Given the description of an element on the screen output the (x, y) to click on. 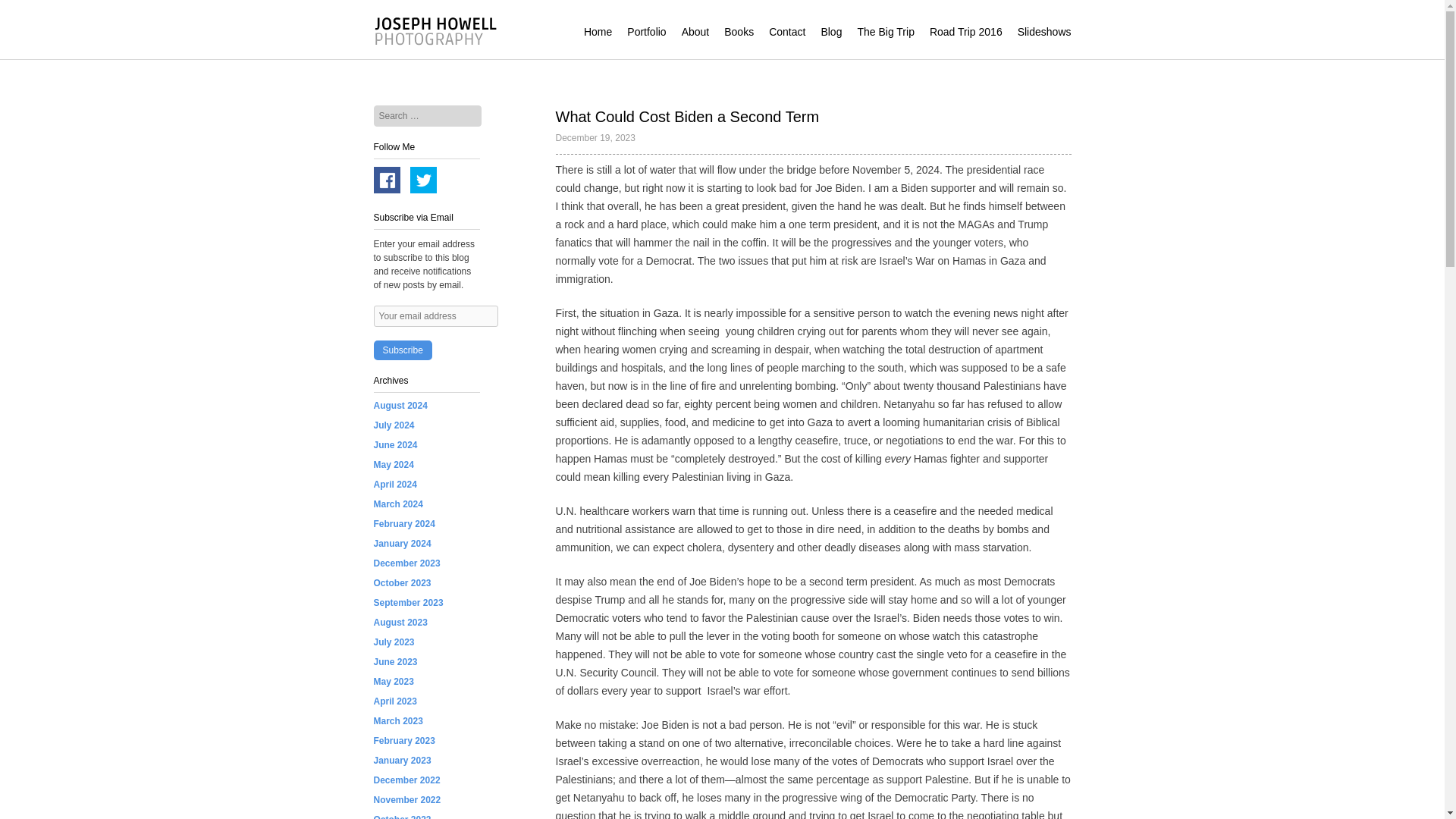
Books (738, 32)
Blog (831, 32)
Contact (786, 32)
The Big Trip (885, 32)
December 19, 2023 (594, 137)
Home (597, 32)
Slideshows (1044, 32)
Portfolio (646, 32)
Subscribe (401, 350)
About (695, 32)
